Given the description of an element on the screen output the (x, y) to click on. 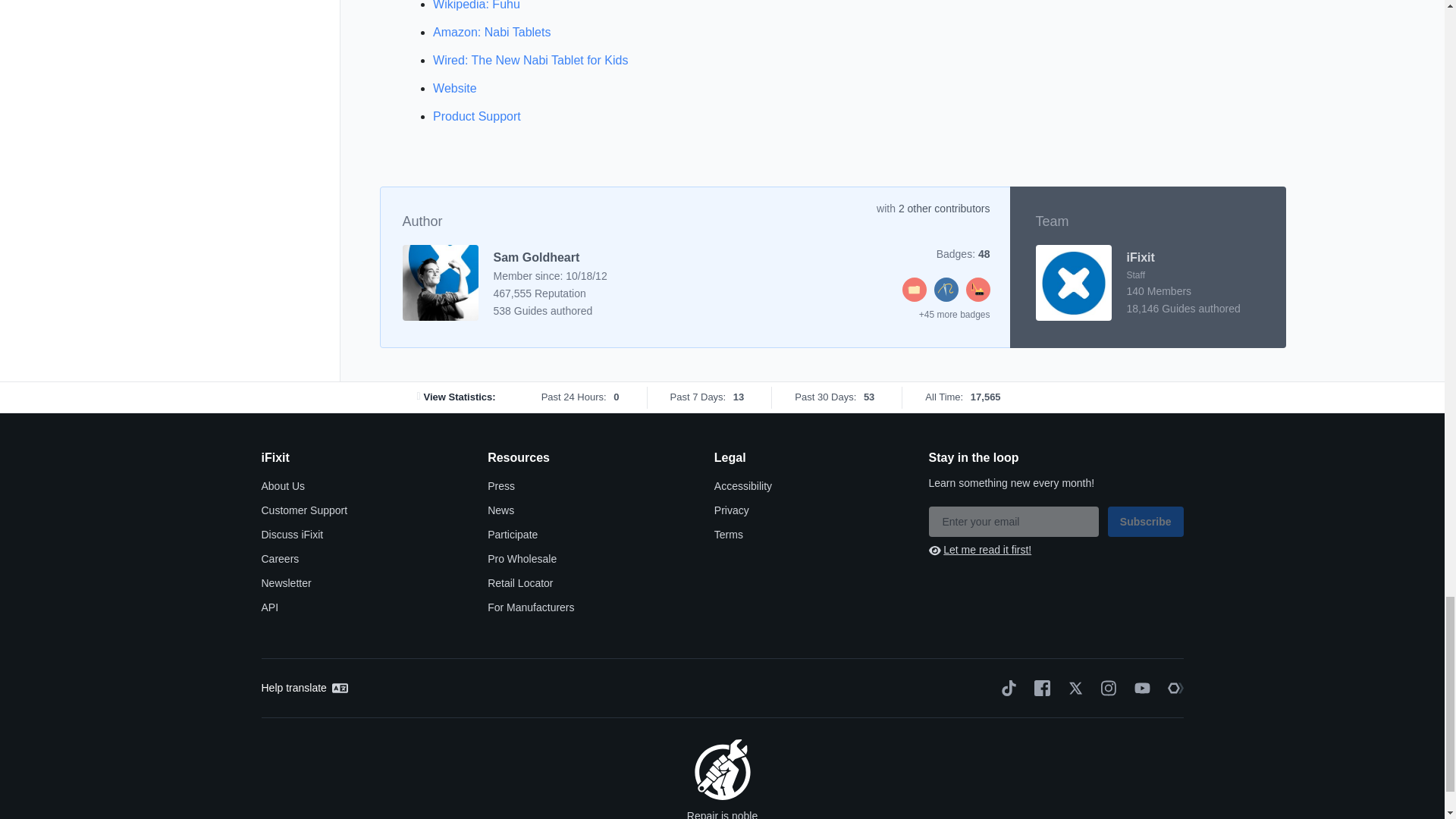
Create a featured teardown (978, 297)
Your answer to a question more than 60 days old is accepted (914, 297)
